Given the description of an element on the screen output the (x, y) to click on. 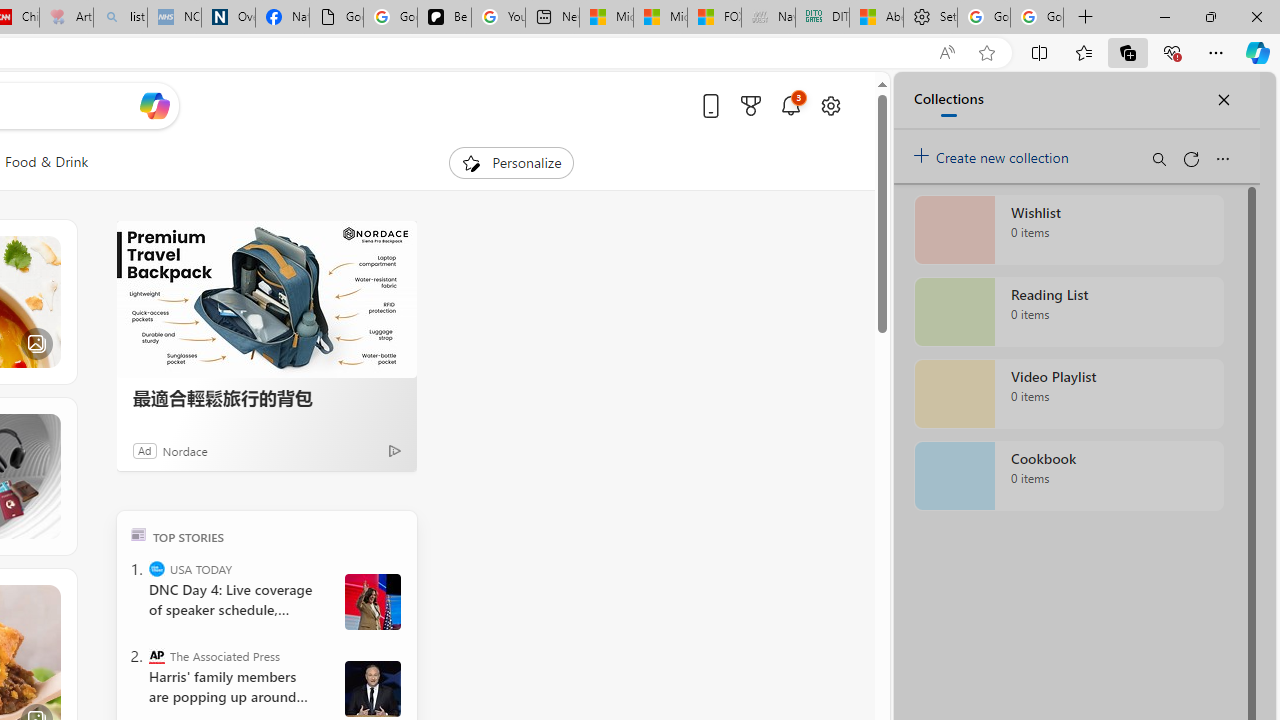
Aberdeen, Hong Kong SAR hourly forecast | Microsoft Weather (875, 17)
Google Analytics Opt-out Browser Add-on Download Page (336, 17)
USA TODAY (156, 568)
